Given the description of an element on the screen output the (x, y) to click on. 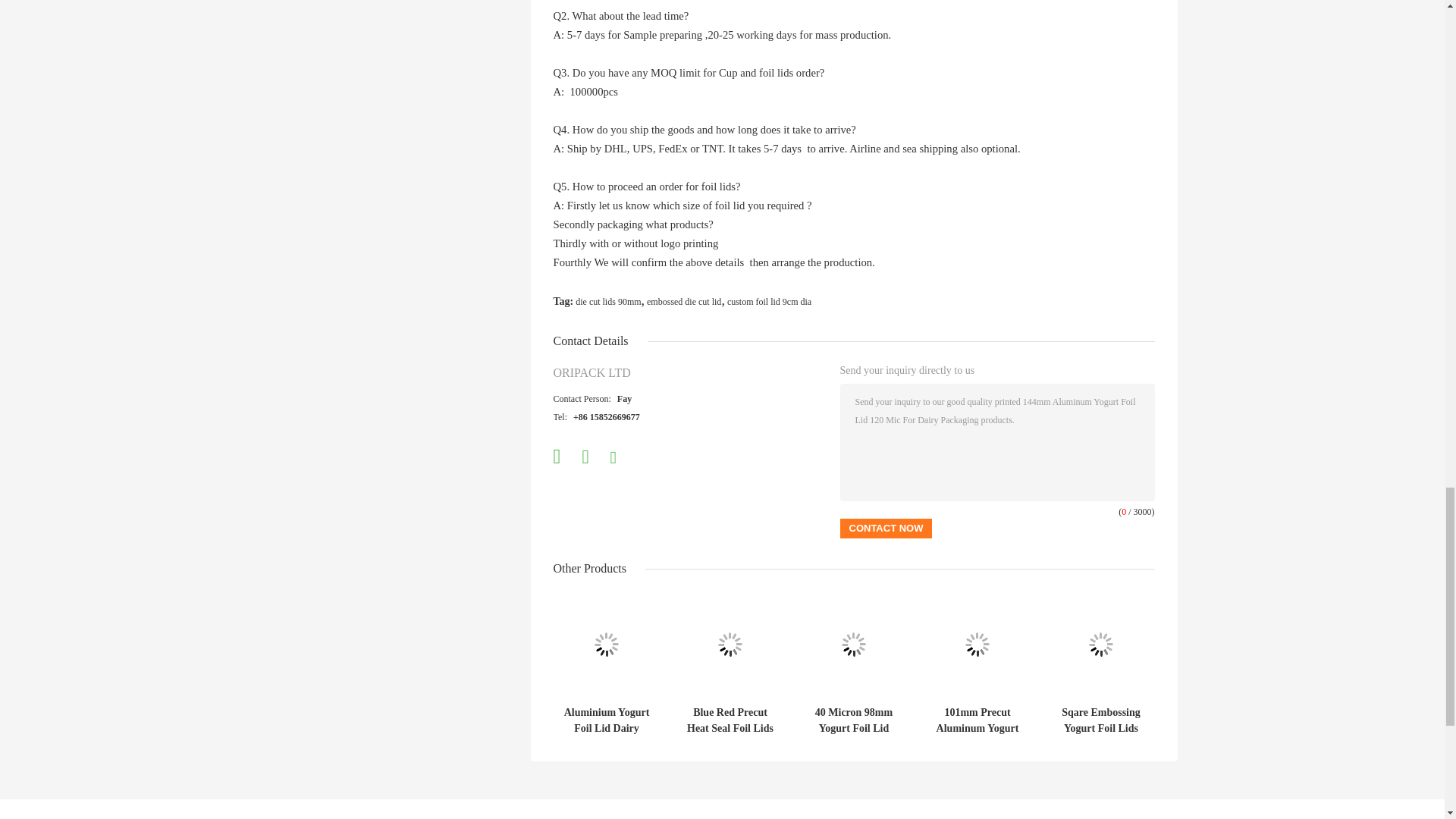
Contact Now (886, 528)
